Given the description of an element on the screen output the (x, y) to click on. 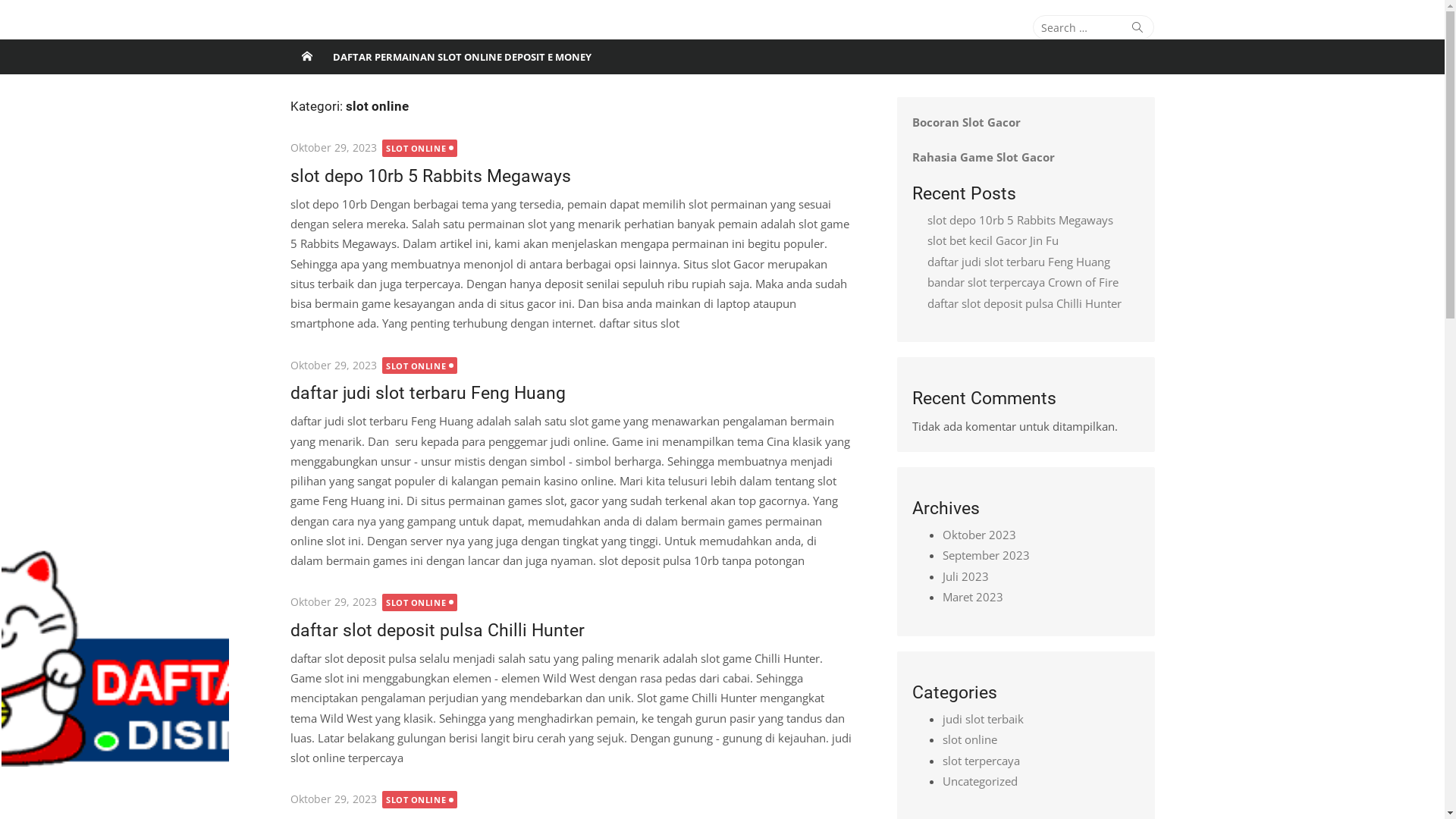
slot online Element type: text (968, 738)
daftar judi slot terbaru Feng Huang Element type: text (1017, 261)
Maret 2023 Element type: text (971, 596)
Rahasia Game Slot Gacor Element type: text (982, 156)
Oktober 29, 2023 Element type: text (332, 147)
Oktober 29, 2023 Element type: text (332, 601)
daftar slot deposit pulsa Chilli Hunter Element type: text (1023, 302)
slot bet kecil Gacor Jin Fu Element type: text (991, 239)
judi slot terbaik Element type: text (981, 718)
daftar slot deposit pulsa Chilli Hunter Element type: text (436, 630)
SLOT GACOR VIA DANA | SLOT GACOR SAAT INI Element type: hover (306, 56)
Uncategorized Element type: text (978, 780)
SLOT GACOR VIA DANA | SLOT GACOR SAAT INI Element type: text (432, 43)
Bocoran Slot Gacor Element type: text (965, 121)
SLOT ONLINE Element type: text (419, 147)
daftar judi slot terbaru Feng Huang Element type: text (426, 392)
slot depo 10rb 5 Rabbits Megaways Element type: text (1019, 219)
DAFTAR PERMAINAN SLOT ONLINE DEPOSIT E MONEY Element type: text (461, 56)
SLOT ONLINE Element type: text (419, 365)
Oktober 29, 2023 Element type: text (332, 364)
Juli 2023 Element type: text (964, 575)
September 2023 Element type: text (985, 554)
Oktober 2023 Element type: text (978, 534)
bandar slot terpercaya Crown of Fire Element type: text (1021, 281)
SLOT ONLINE Element type: text (419, 601)
slot terpercaya Element type: text (980, 760)
SLOT ONLINE Element type: text (419, 798)
slot depo 10rb 5 Rabbits Megaways Element type: text (429, 175)
Search Element type: text (1137, 27)
Oktober 29, 2023 Element type: text (332, 798)
